Given the description of an element on the screen output the (x, y) to click on. 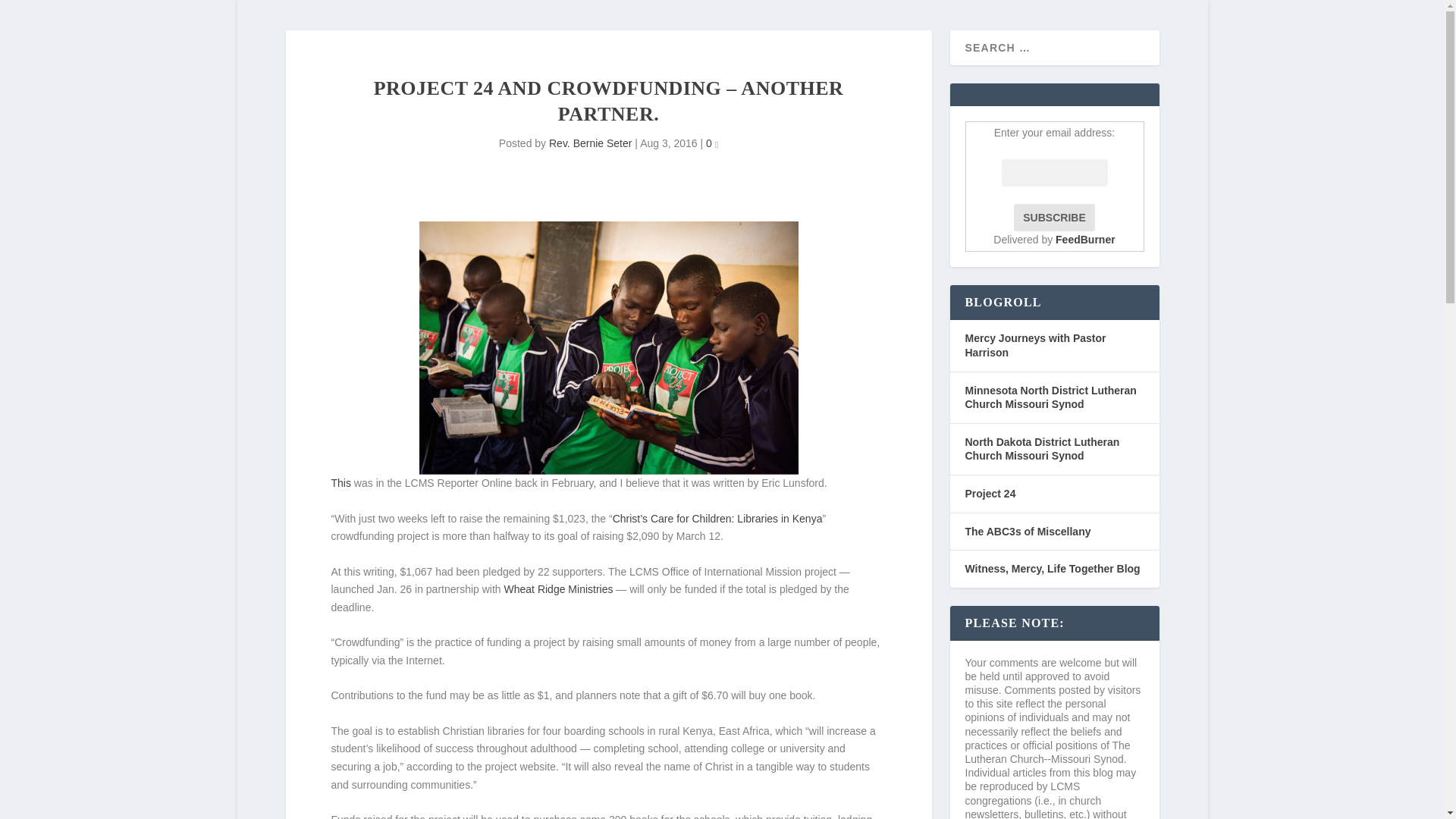
Rev. Bernie Seter (589, 143)
0 (711, 143)
Wheat Ridge Ministries (557, 589)
Posts by Rev. Bernie Seter (589, 143)
Search (31, 13)
